Given the description of an element on the screen output the (x, y) to click on. 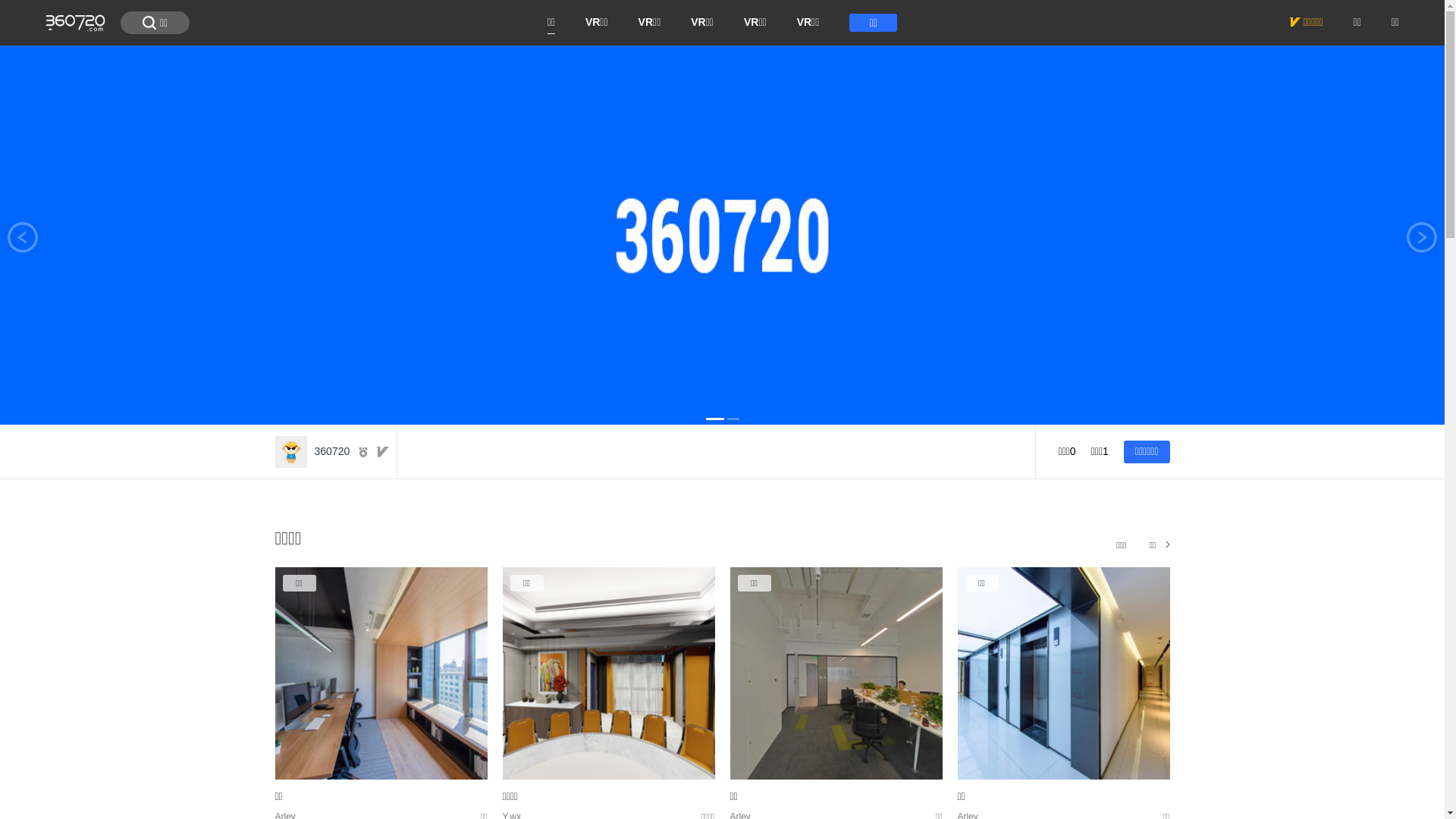
VIP Element type: hover (382, 451)
360720 Element type: text (311, 451)
1 Element type: text (714, 418)
2 Element type: text (732, 418)
